Given the description of an element on the screen output the (x, y) to click on. 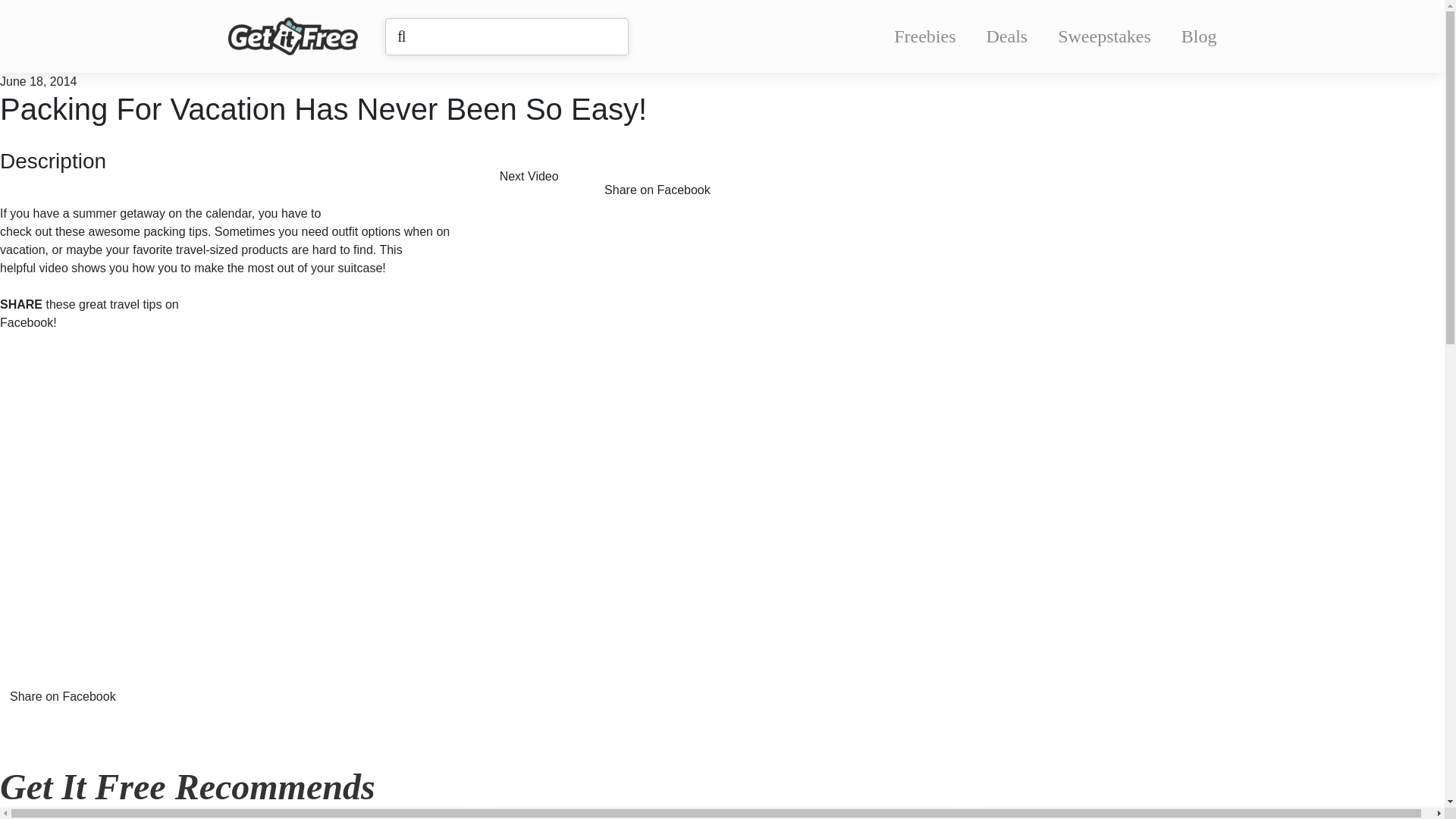
Share on Facebook (668, 178)
Next Video (540, 178)
Deals (1007, 35)
Blog (1198, 35)
Share on Facebook (74, 685)
Sweepstakes (1104, 35)
Freebies (924, 35)
